Given the description of an element on the screen output the (x, y) to click on. 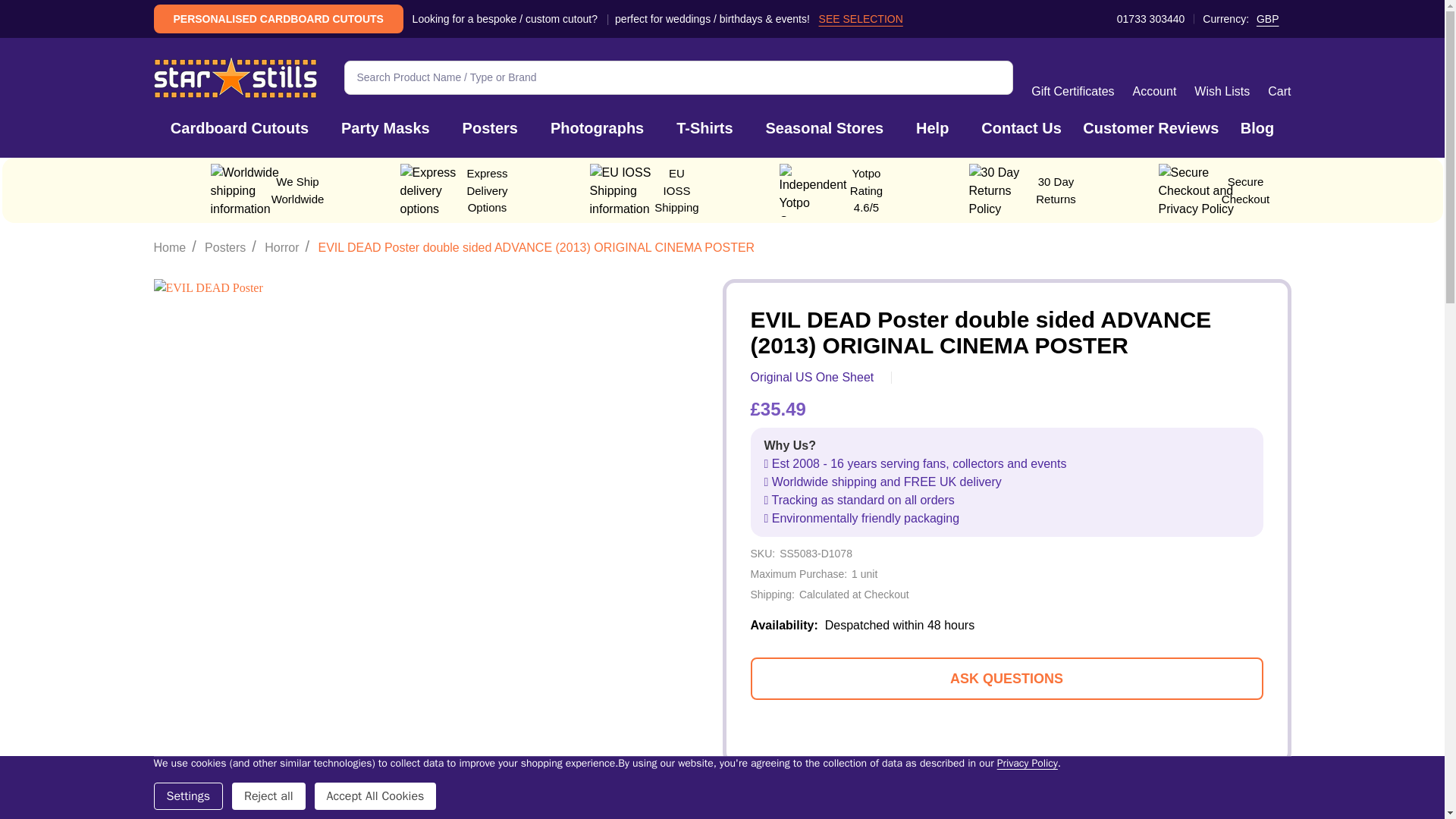
Call Us: 01733 303440 (1142, 18)
Party Masks (385, 127)
SEE SELECTION (860, 18)
Cardboard Cutouts (239, 127)
Wish Lists (1221, 76)
Wish Lists (1221, 76)
Starstills.com (233, 76)
SEARCH (995, 76)
Gift Certificates (1071, 76)
Account (1154, 76)
